Given the description of an element on the screen output the (x, y) to click on. 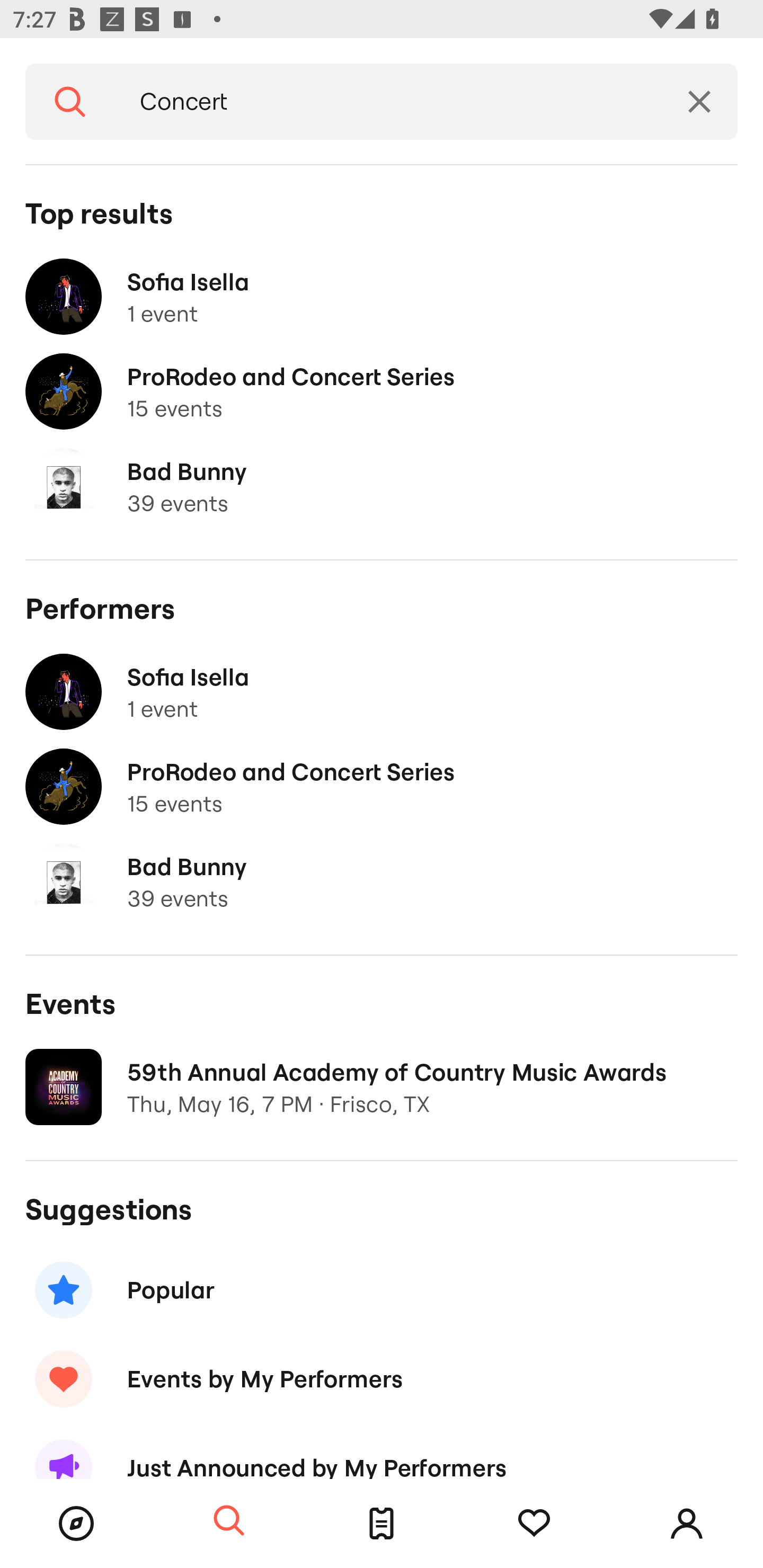
Search (69, 101)
Concert (387, 101)
Clear (699, 101)
Sofia Isella 1 event (381, 296)
ProRodeo and Concert Series 15 events (381, 391)
Bad Bunny 39 events (381, 486)
Sofia Isella 1 event (381, 692)
ProRodeo and Concert Series 15 events (381, 787)
Bad Bunny 39 events (381, 881)
Popular (381, 1289)
Events by My Performers (381, 1378)
Just Announced by My Performers (381, 1450)
Browse (76, 1523)
Search (228, 1521)
Tickets (381, 1523)
Tracking (533, 1523)
Account (686, 1523)
